Given the description of an element on the screen output the (x, y) to click on. 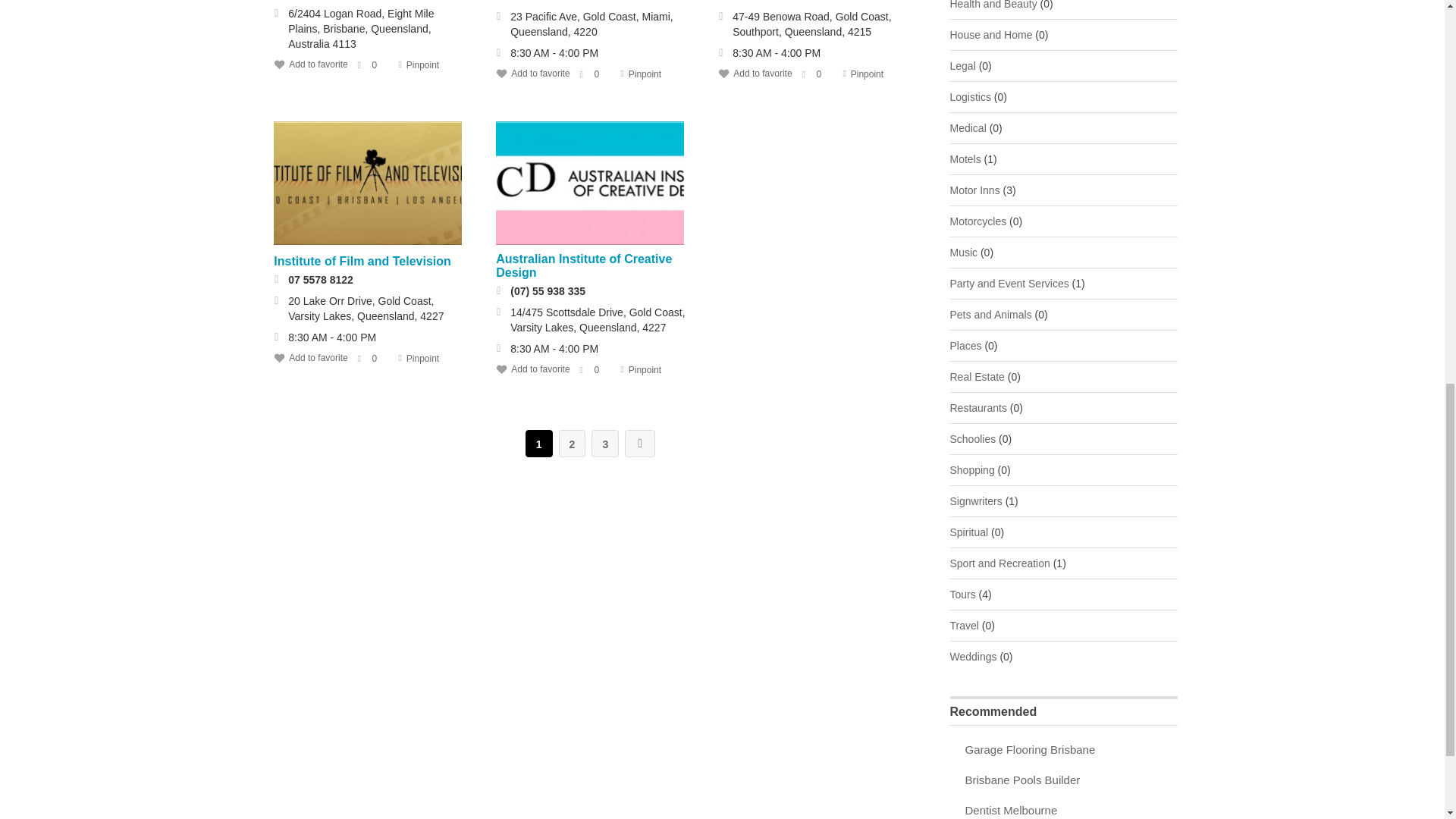
3 (604, 443)
Add to favorite (310, 63)
Dentist Melbourne (1010, 809)
0   (599, 73)
Add to favorite (532, 72)
Pinpoint (422, 64)
Pinpoint (644, 73)
Australian Institute of Creative Design (590, 183)
Institute of Film and Television (362, 260)
Institute of Film and Television (367, 183)
0   (376, 64)
Australian Institute of Creative Design (583, 265)
2 (572, 443)
